Given the description of an element on the screen output the (x, y) to click on. 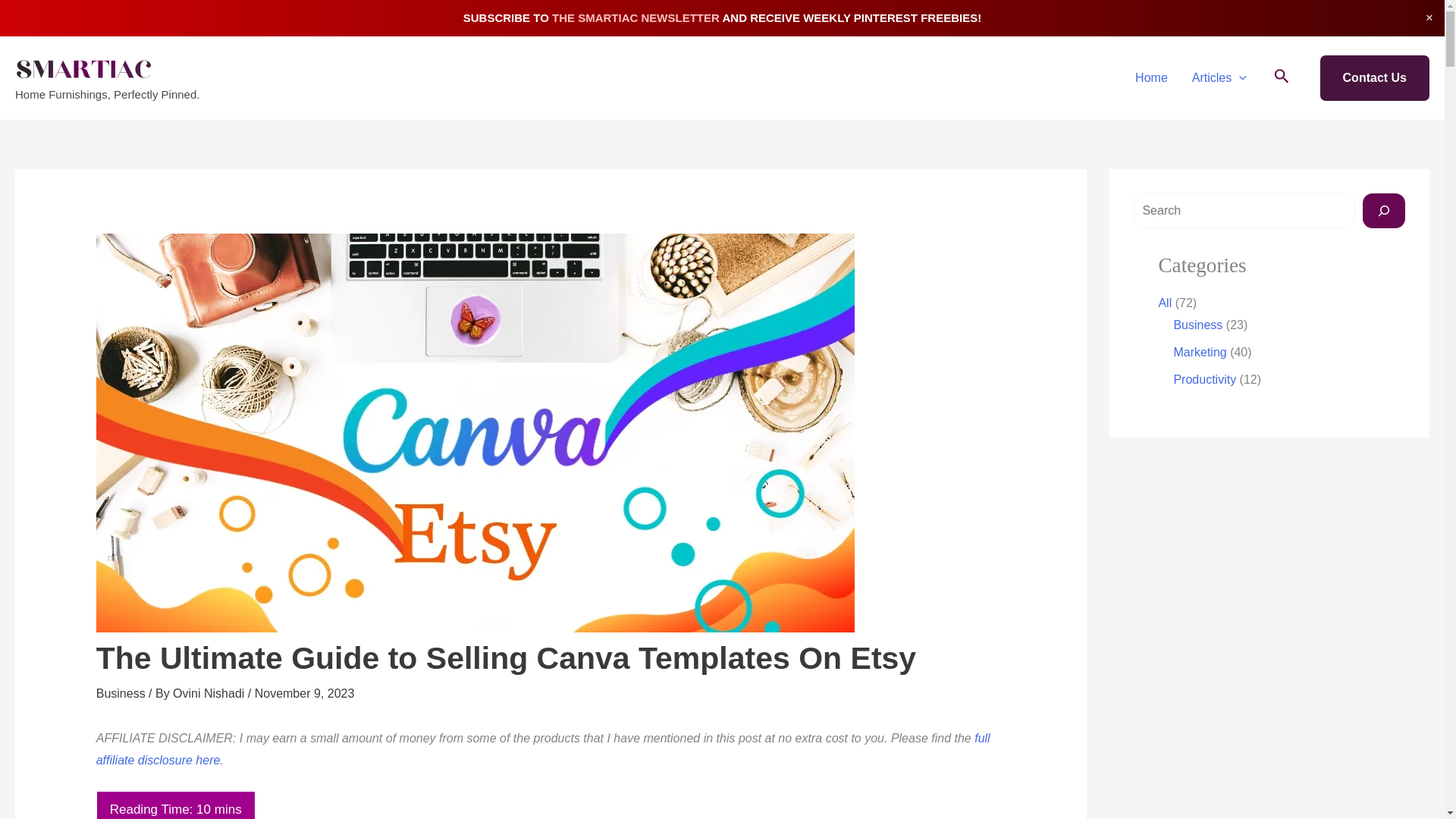
Contact Us (1374, 77)
Ovini Nishadi (210, 693)
full affiliate disclosure here (543, 749)
THE SMARTIAC NEWSLETTER (635, 17)
Articles (1219, 77)
Business (120, 693)
View all posts by Ovini Nishadi (210, 693)
